Given the description of an element on the screen output the (x, y) to click on. 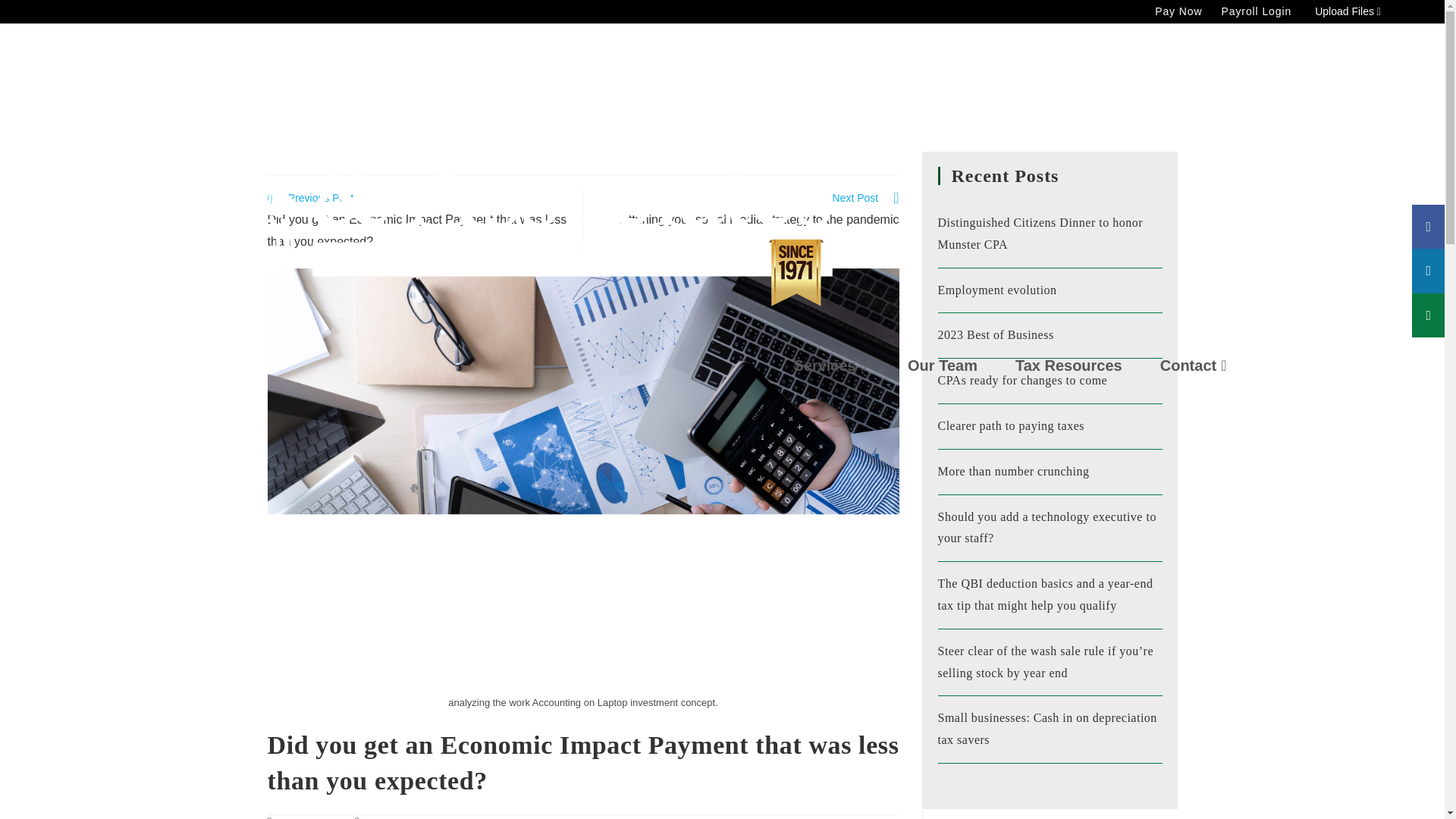
Payroll Login (1256, 10)
Pay Now (1178, 10)
Contact (1214, 365)
Our Team (960, 365)
Services (850, 365)
Tax Resources (1087, 365)
Upload Files (1348, 11)
